Given the description of an element on the screen output the (x, y) to click on. 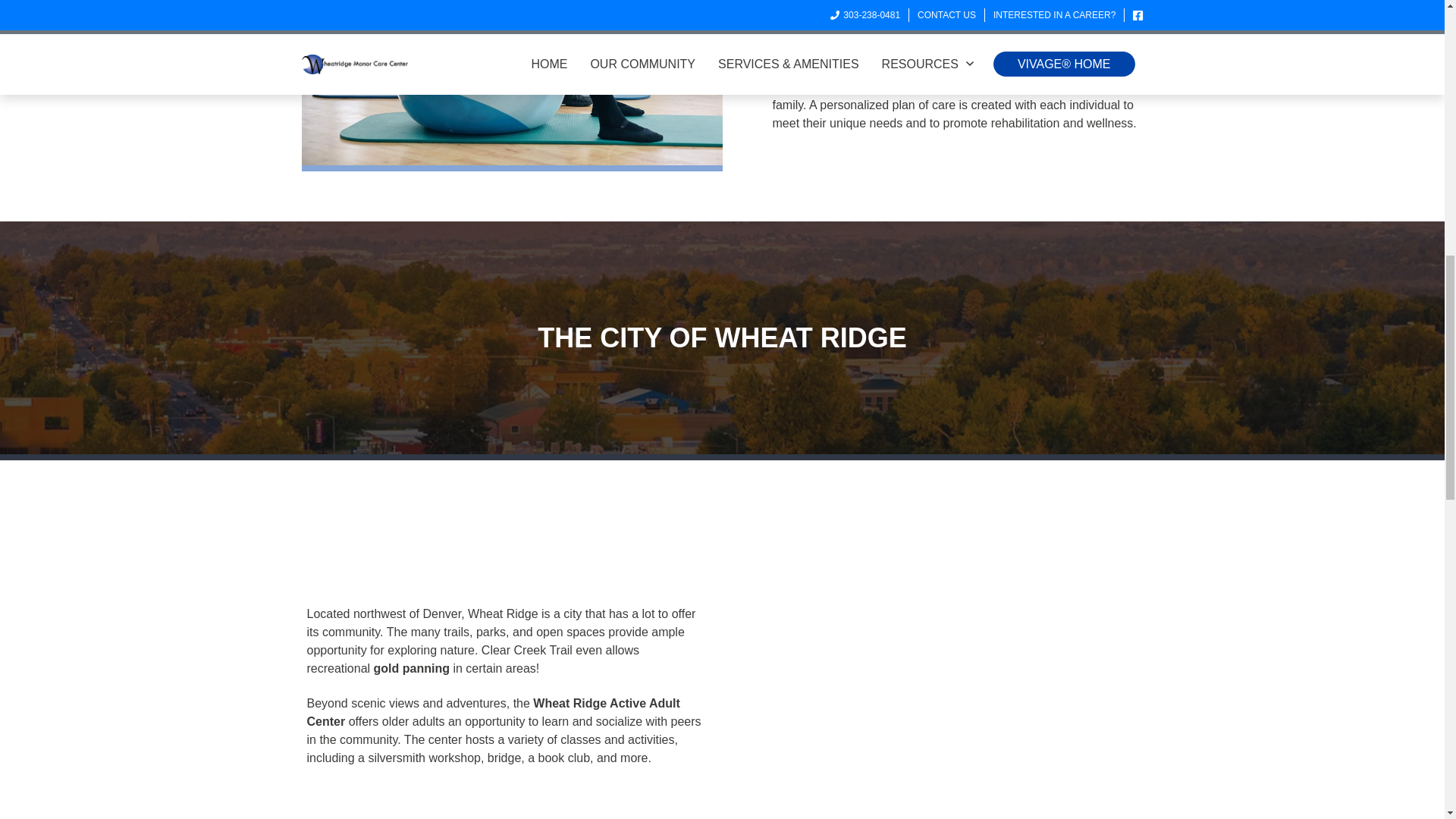
gold panning (411, 667)
Wheat Ridge Active Adult Center (492, 712)
